Given the description of an element on the screen output the (x, y) to click on. 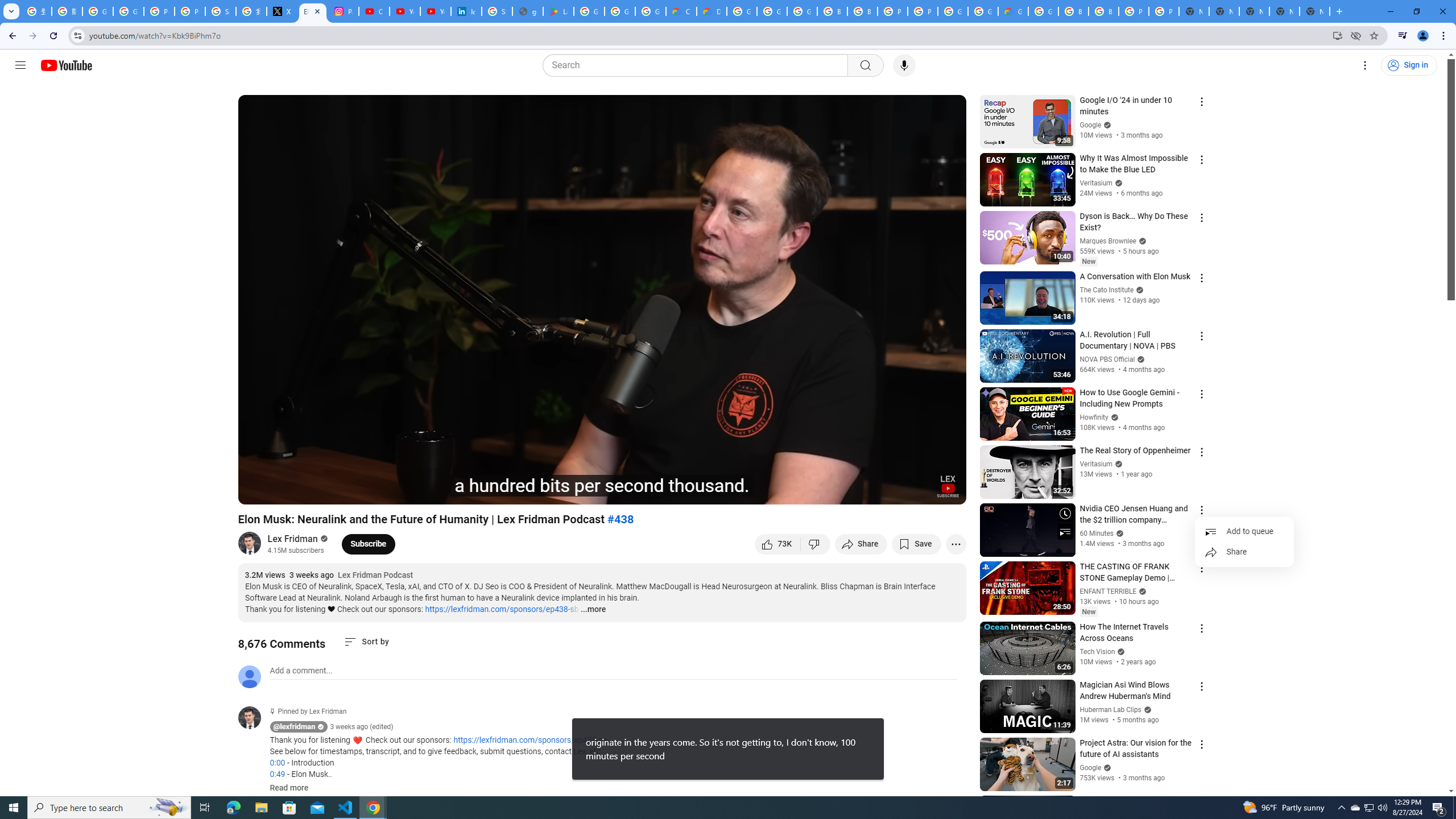
Save to playlist (915, 543)
New (1087, 611)
Channel watermark (947, 486)
